Given the description of an element on the screen output the (x, y) to click on. 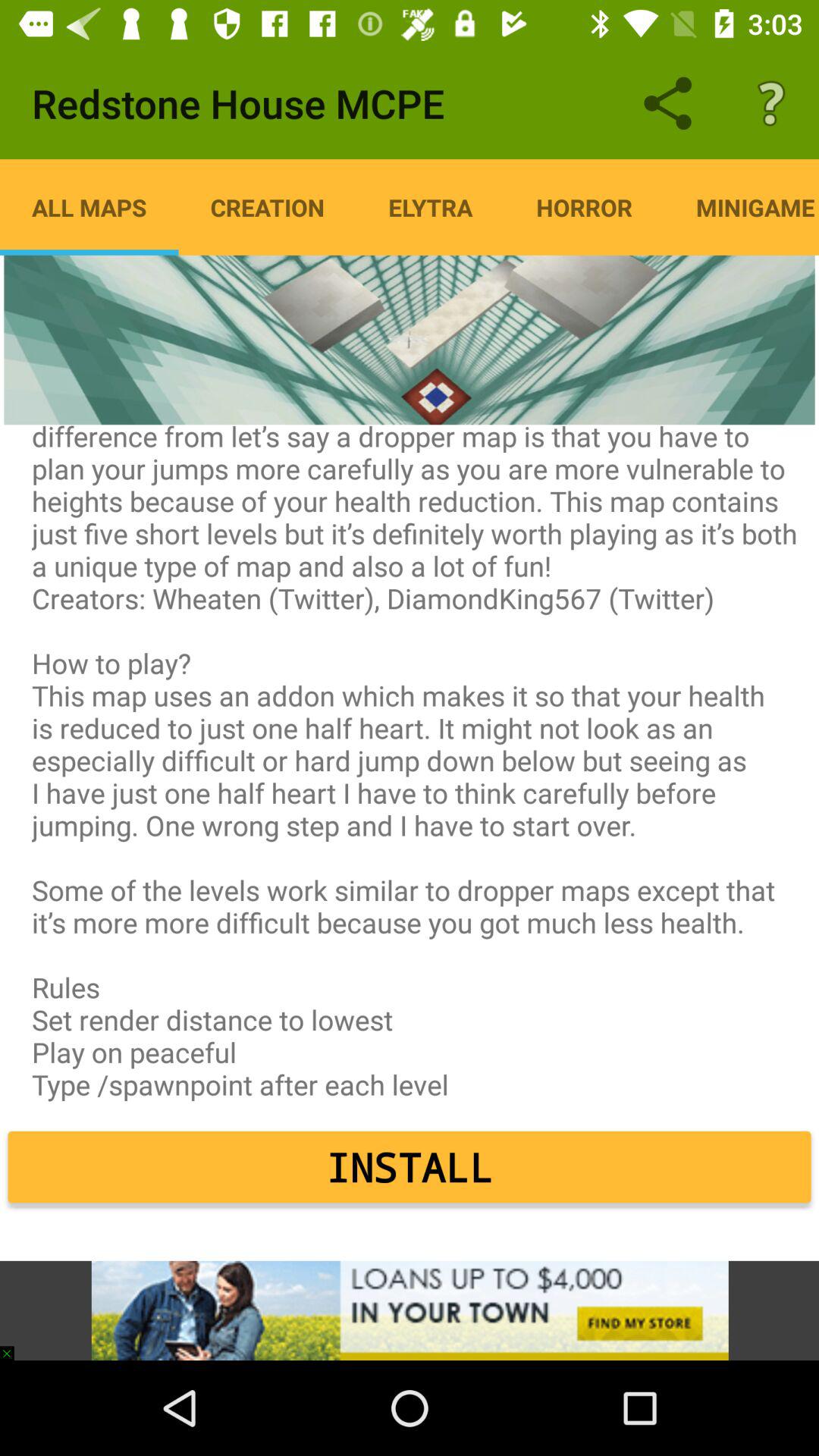
swipe to all maps item (89, 207)
